Given the description of an element on the screen output the (x, y) to click on. 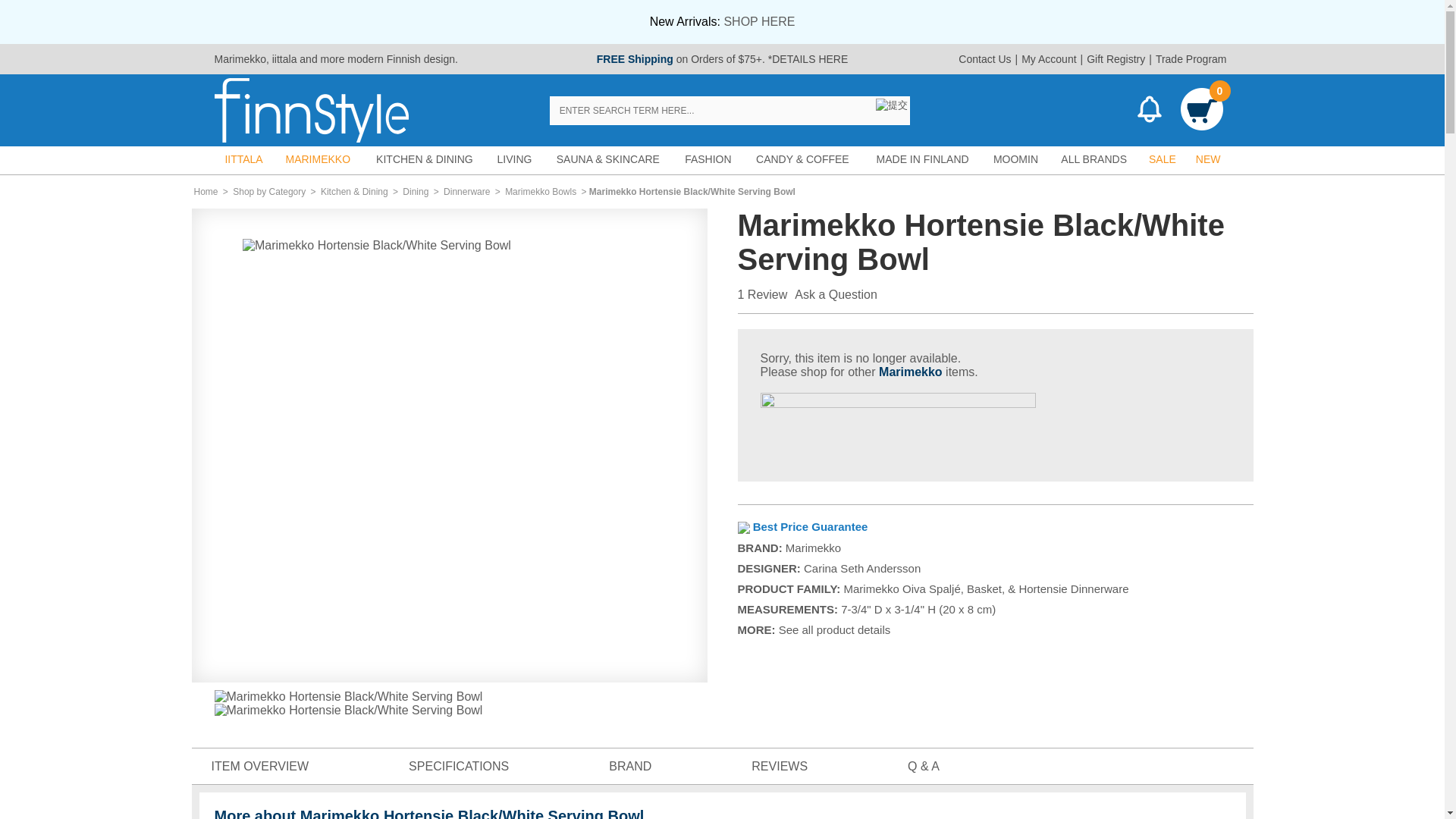
Gift Registry (1115, 59)
Trade Program (1190, 59)
iittala (284, 59)
Marimekko (239, 59)
MARIMEKKO (318, 159)
Contact Us (984, 59)
MADE IN FINLAND (922, 159)
My Account (1048, 59)
0 (1201, 110)
LIVING (514, 159)
